Given the description of an element on the screen output the (x, y) to click on. 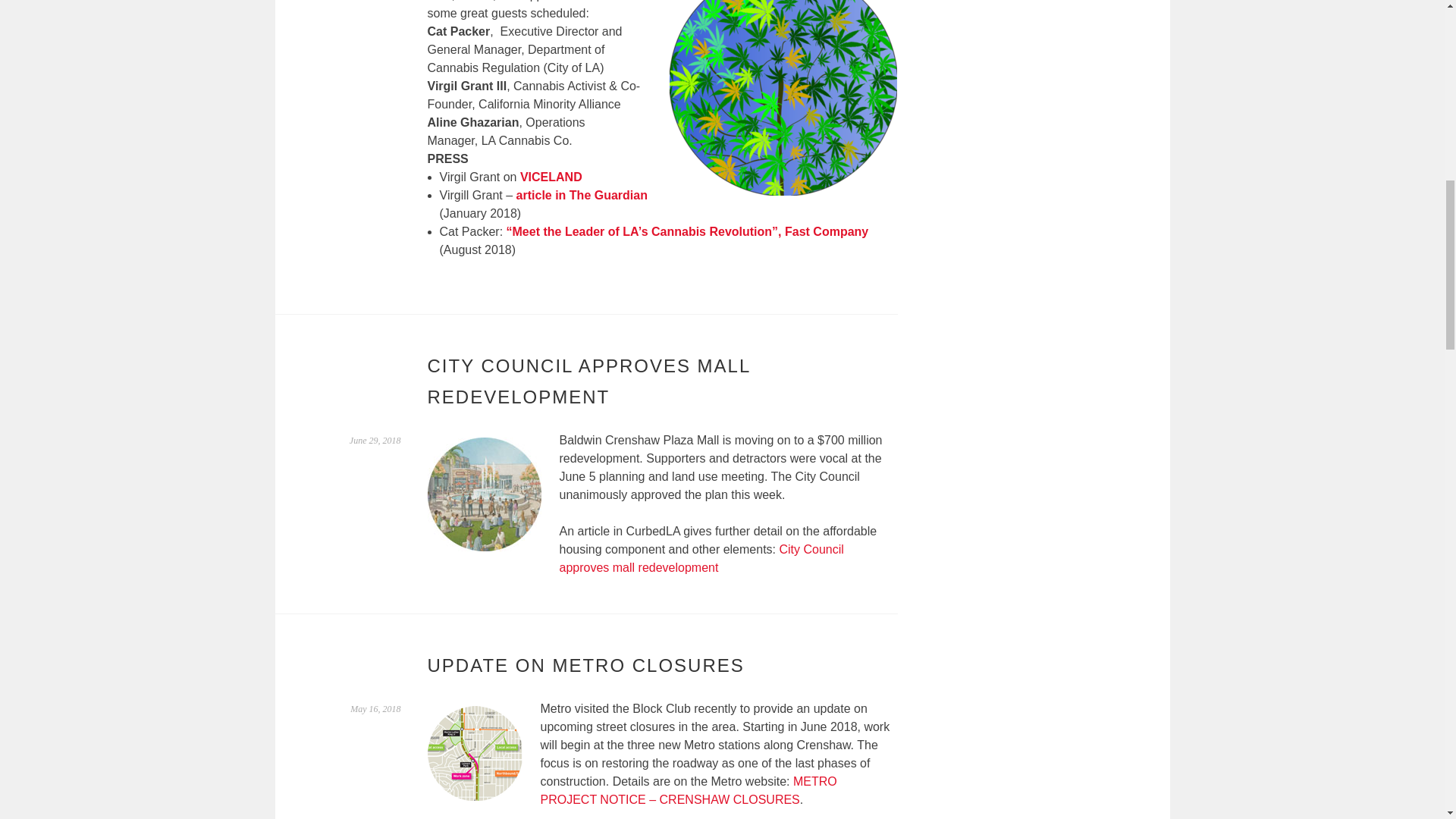
CITY COUNCIL APPROVES MALL REDEVELOPMENT (589, 381)
May 16, 2018 (375, 708)
Permalink to Update on Metro Closures (375, 708)
article in The Guardian (581, 195)
City Council approves mall redevelopment (701, 558)
VICELAND (550, 176)
UPDATE ON METRO CLOSURES (586, 665)
June 29, 2018 (375, 439)
Permalink to City Council approves mall redevelopment (375, 439)
